Given the description of an element on the screen output the (x, y) to click on. 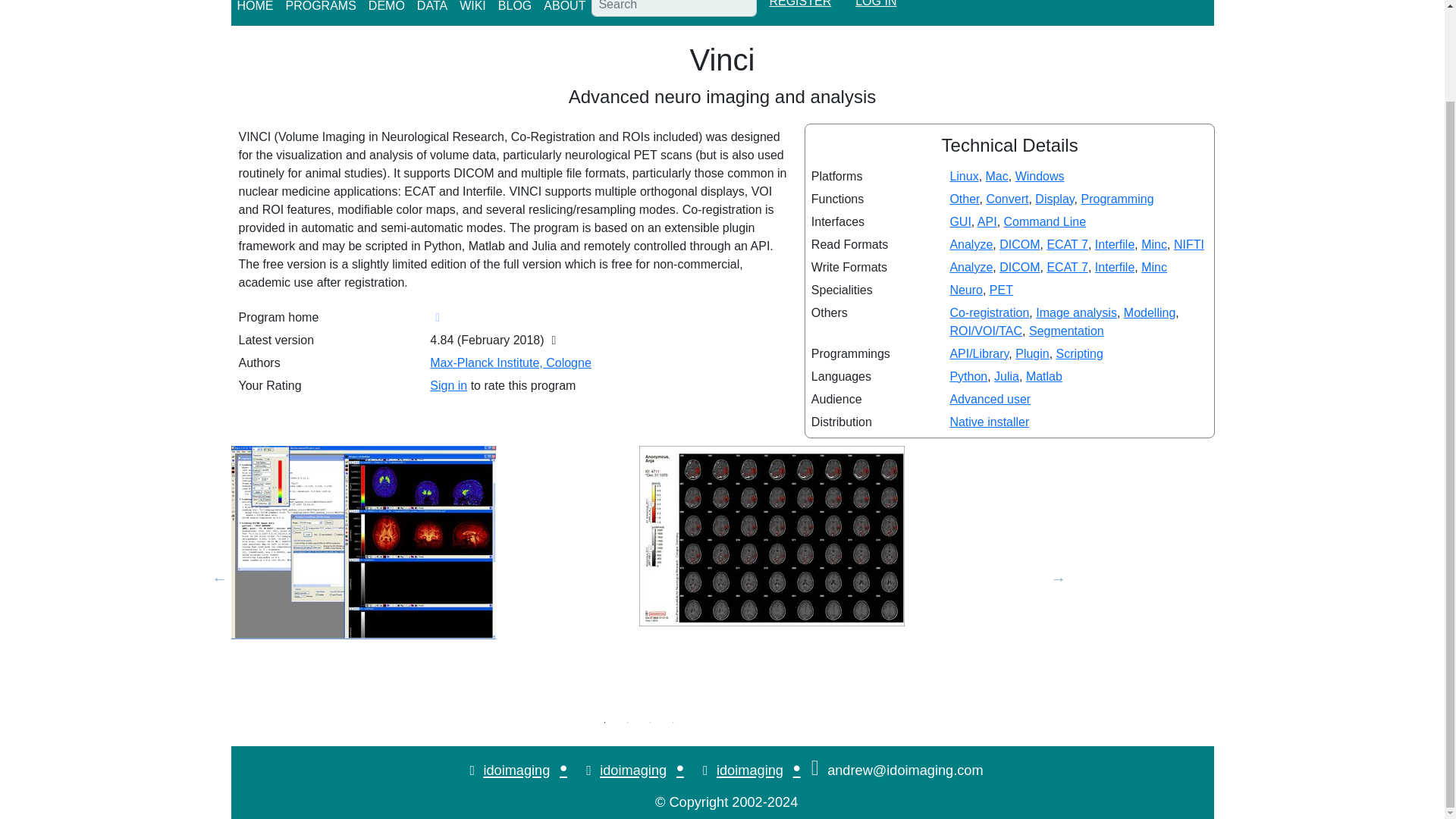
Sign in (448, 385)
API (986, 221)
Max-Planck Institute, Cologne (510, 362)
Analyze (970, 244)
Windows (1039, 175)
ABOUT (564, 9)
PROGRAMS (320, 9)
BLOG (514, 9)
Interfile (1114, 244)
HOME (254, 9)
NIFTI (1188, 244)
ECAT 7 (1066, 267)
Linux (963, 175)
Modelling (1149, 312)
Neuro (965, 289)
